Given the description of an element on the screen output the (x, y) to click on. 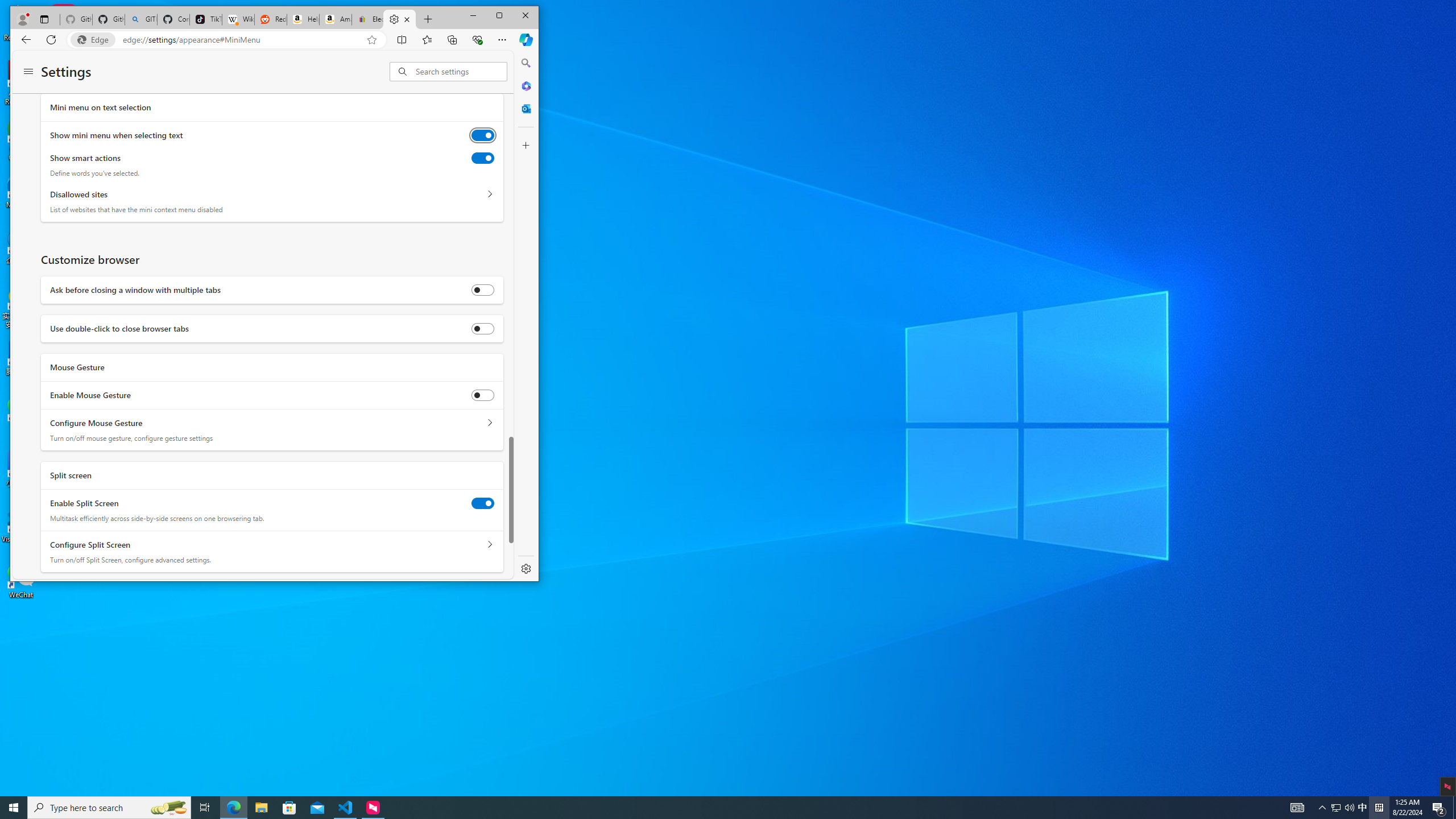
Action Center, 2 new notifications (1439, 807)
GITHUB - Search (140, 19)
Search highlights icon opens search home window (1362, 807)
Search settings (167, 807)
Reddit - Dive into anything (1335, 807)
